Given the description of an element on the screen output the (x, y) to click on. 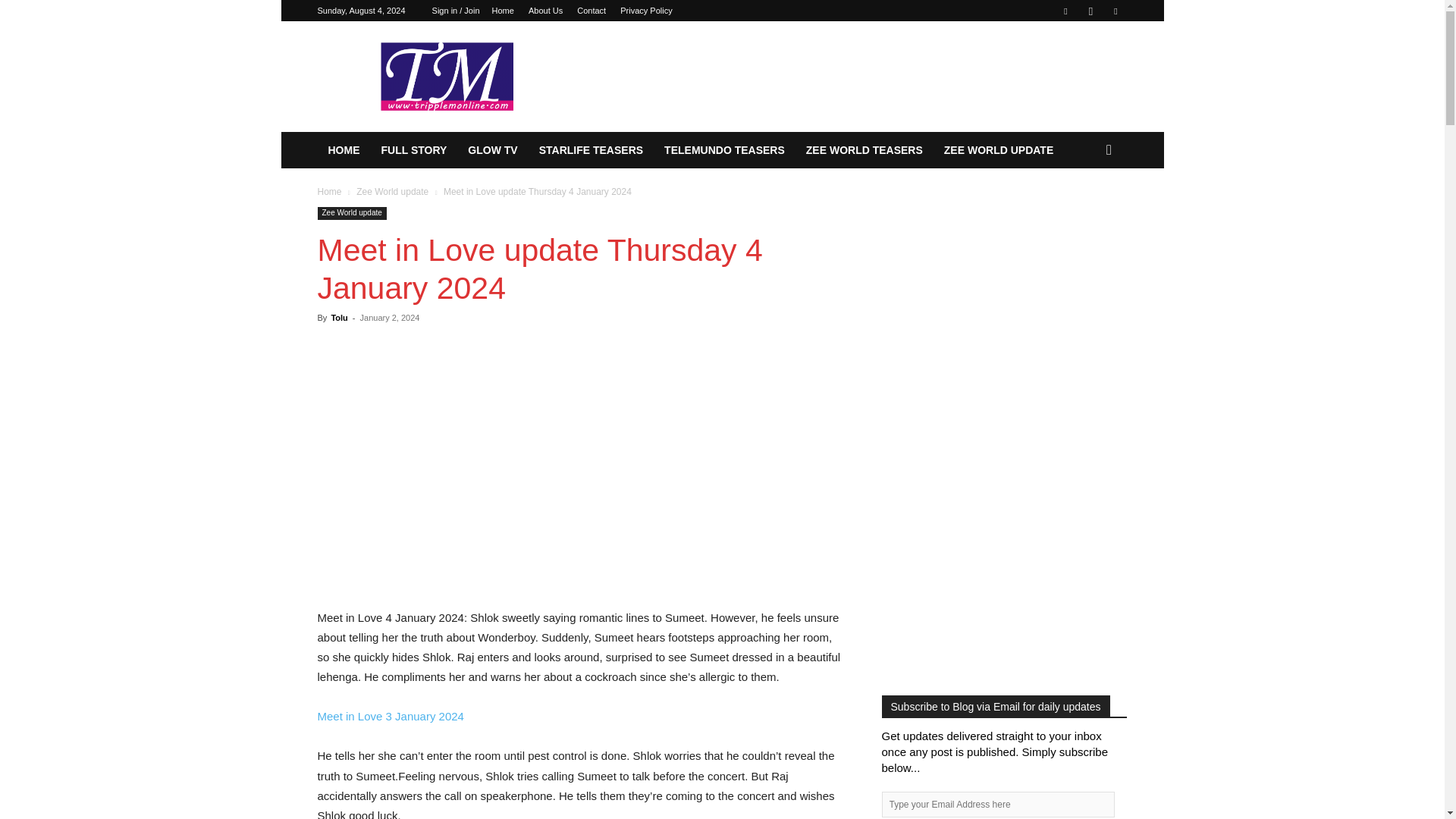
Privacy Policy (645, 10)
Zee World update (392, 191)
TELEMUNDO TEASERS (723, 149)
View all posts in Zee World update (392, 191)
Home (328, 191)
Home (502, 10)
About Us (545, 10)
ZEE WORLD TEASERS (863, 149)
Contact (590, 10)
Twitter (1114, 10)
